Given the description of an element on the screen output the (x, y) to click on. 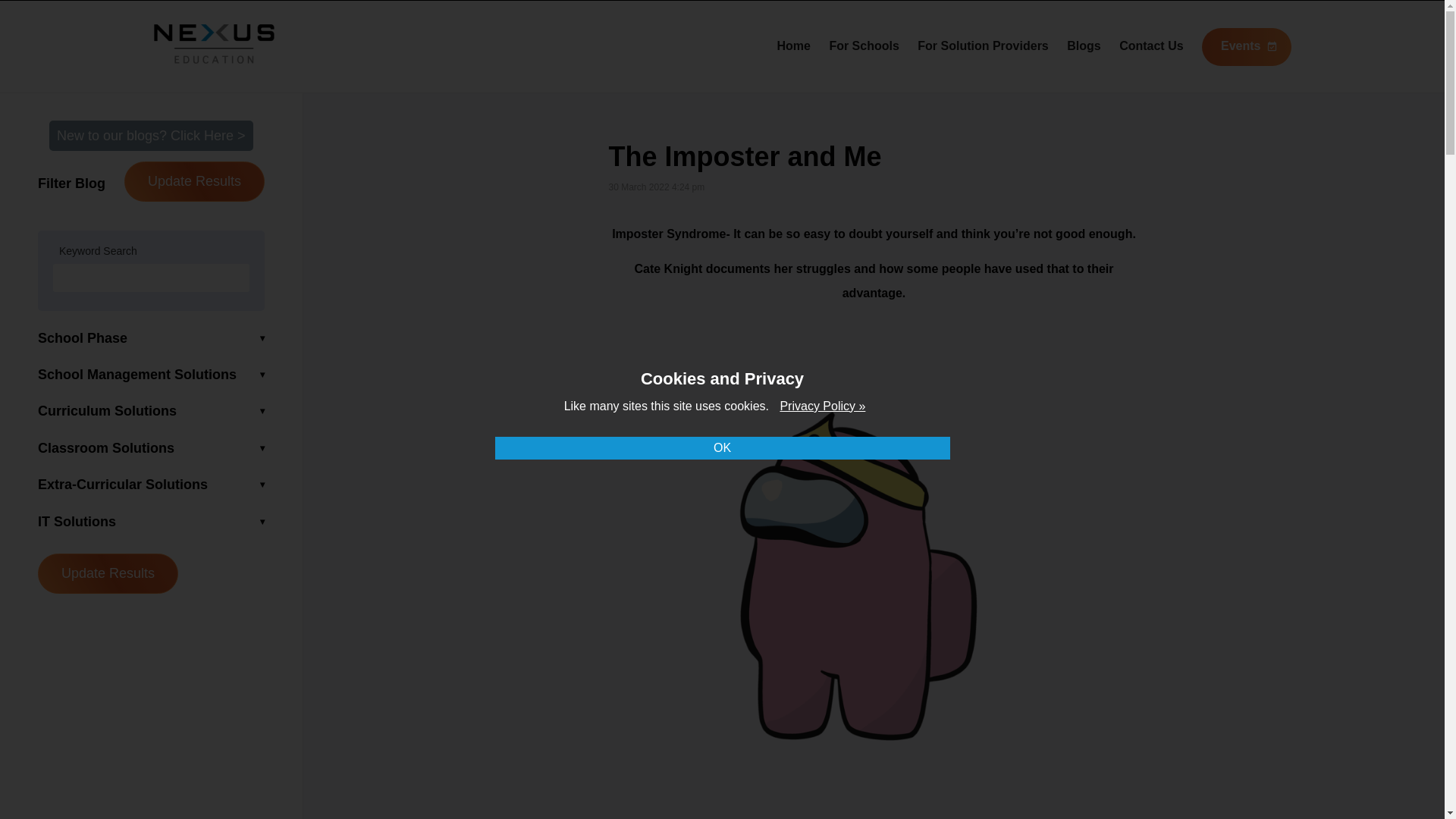
Events (1246, 46)
Contact Us (1151, 46)
Cookie Notice (821, 405)
Home (792, 46)
For Schools (863, 46)
Update Results (193, 181)
For Solution Providers (982, 46)
Blogs (1083, 46)
Nexus Education (213, 43)
Update Results (107, 573)
